Given the description of an element on the screen output the (x, y) to click on. 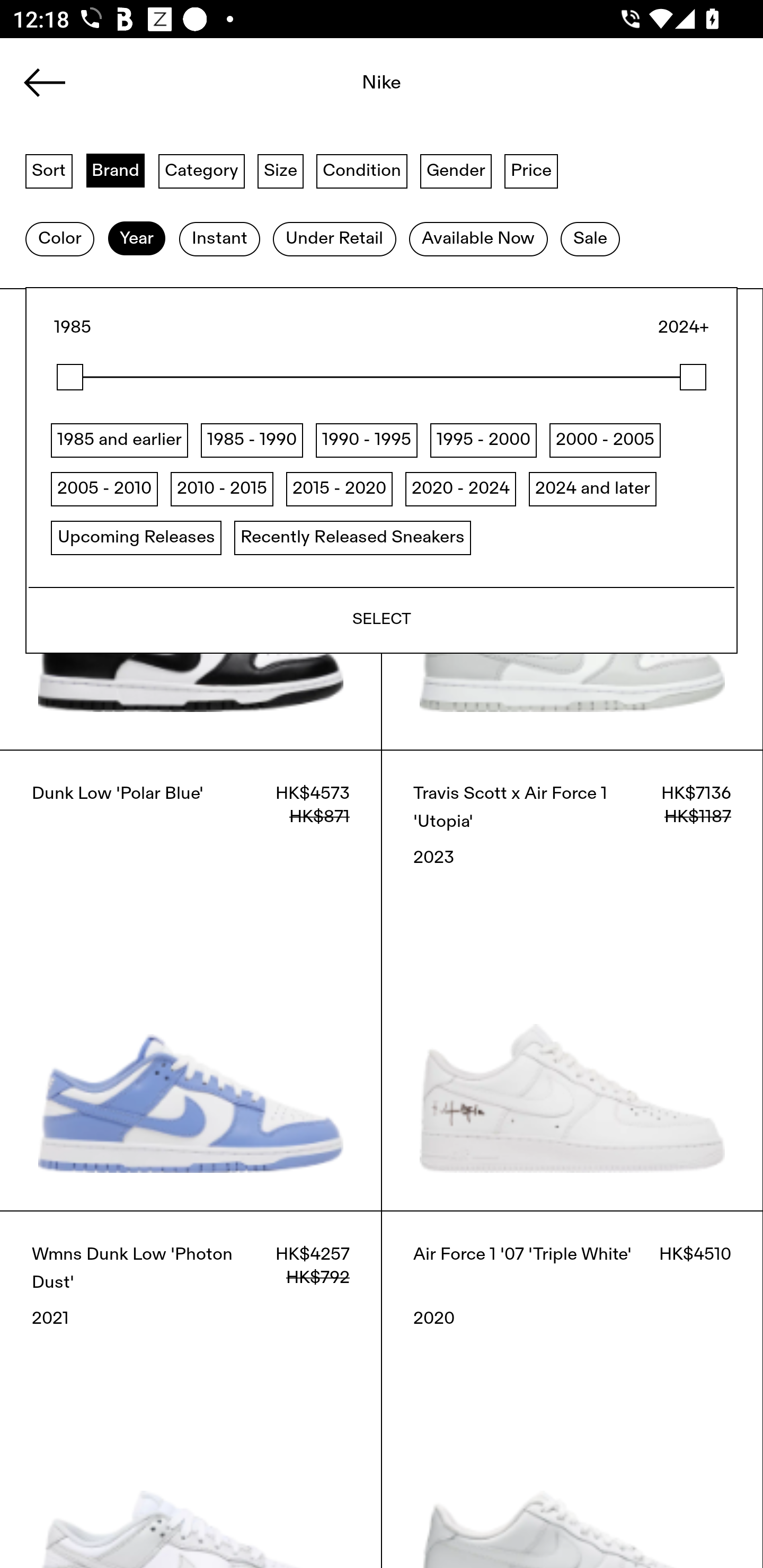
Sort (48, 170)
Brand (115, 170)
Category (201, 170)
Size (280, 170)
Condition (361, 170)
Gender (455, 170)
Price (530, 170)
Color (59, 239)
Year (136, 239)
Instant (219, 239)
Under Retail (334, 239)
Available Now (477, 239)
Sale (589, 239)
1985.0 Range start,1985 2024.0 Range end,2024 (381, 376)
1985 and earlier (119, 439)
1985 - 1990 (251, 439)
1990 - 1995 (366, 439)
1995 - 2000 (483, 439)
2000 - 2005 (604, 439)
2005 - 2010 (104, 488)
2010 - 2015 (221, 488)
2015 - 2020 (339, 488)
2020 - 2024 (460, 488)
2024 and later (592, 488)
Upcoming Releases (136, 537)
Recently Released Sneakers (352, 537)
SELECT (381, 619)
Dunk Low 'Polar Blue' HK$4573 HK$871 (190, 979)
Wmns Dunk Low 'Photon Dust' HK$4257 HK$792 2021 (190, 1389)
Air Force 1 '07 'Triple White' HK$4510 2020 (572, 1389)
